Given the description of an element on the screen output the (x, y) to click on. 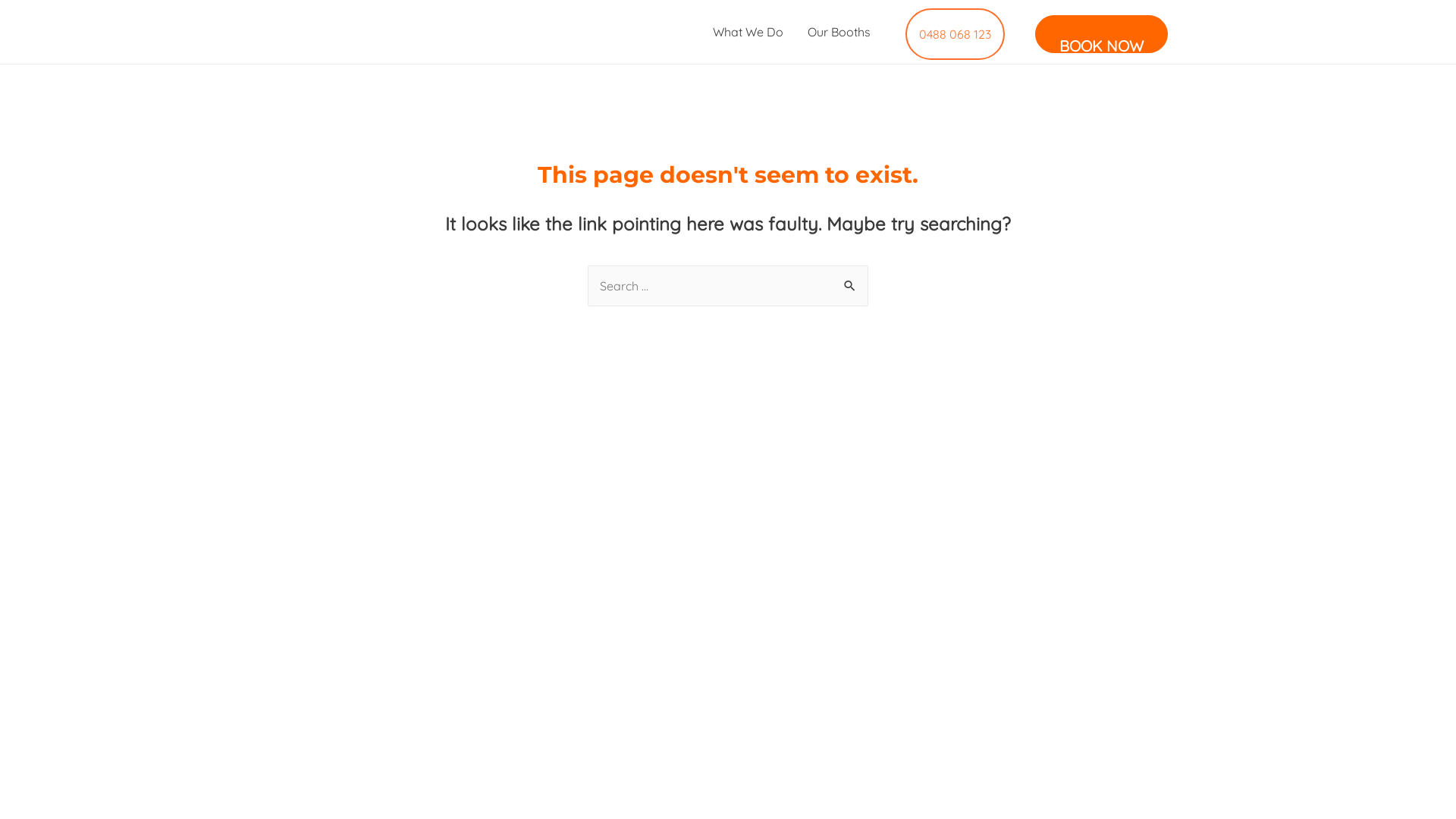
What We Do Element type: text (747, 31)
0488 068 123 Element type: text (954, 33)
BOOK NOW Element type: text (1101, 34)
Our Booths Element type: text (838, 31)
Search Element type: text (851, 286)
